Given the description of an element on the screen output the (x, y) to click on. 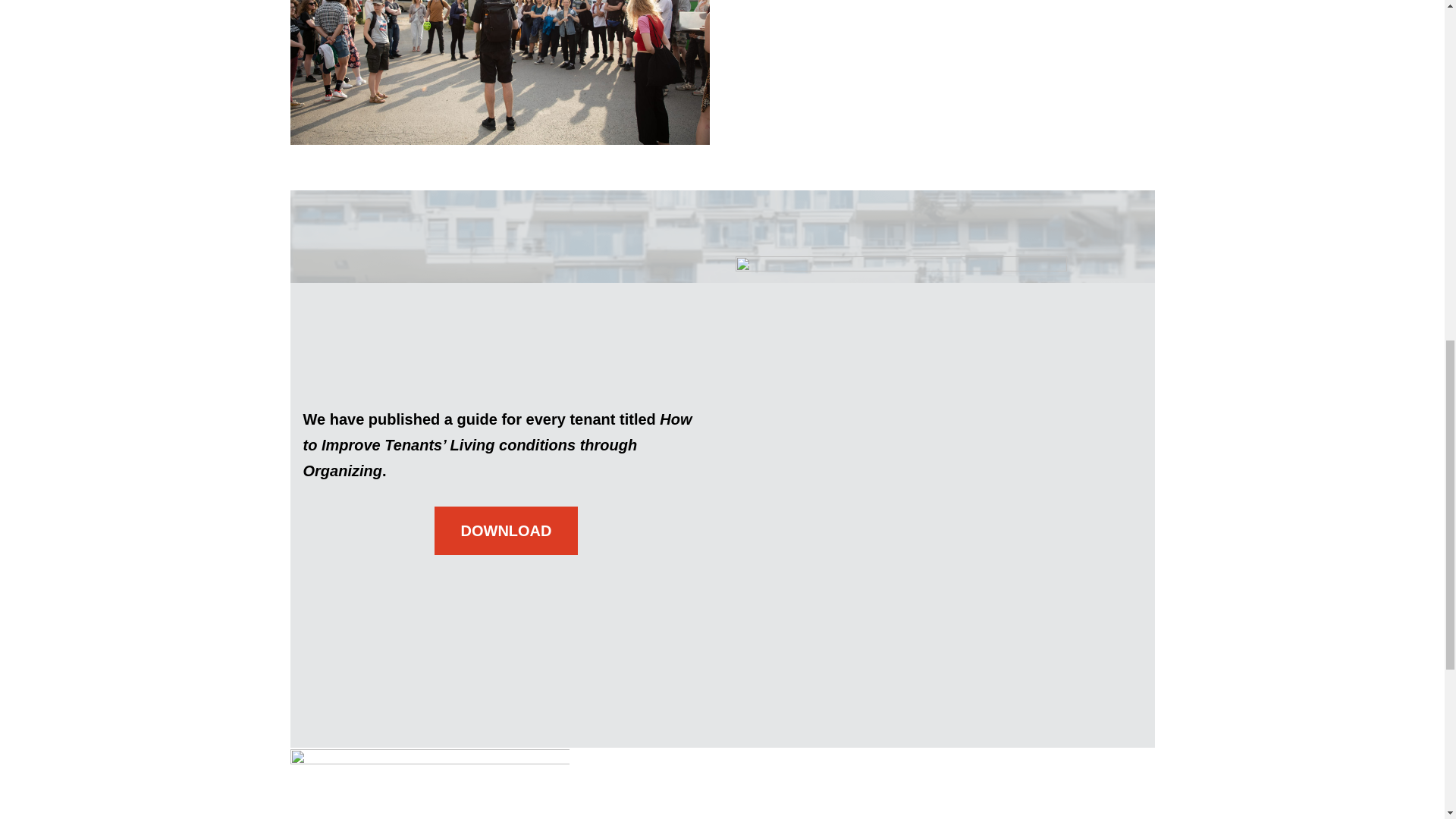
DOWNLOAD (505, 530)
